Given the description of an element on the screen output the (x, y) to click on. 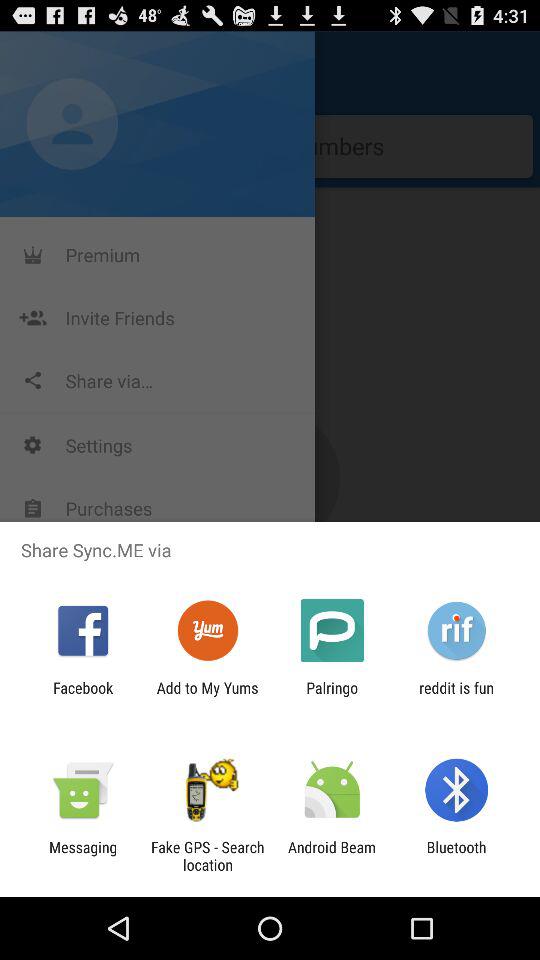
swipe until palringo item (332, 696)
